Given the description of an element on the screen output the (x, y) to click on. 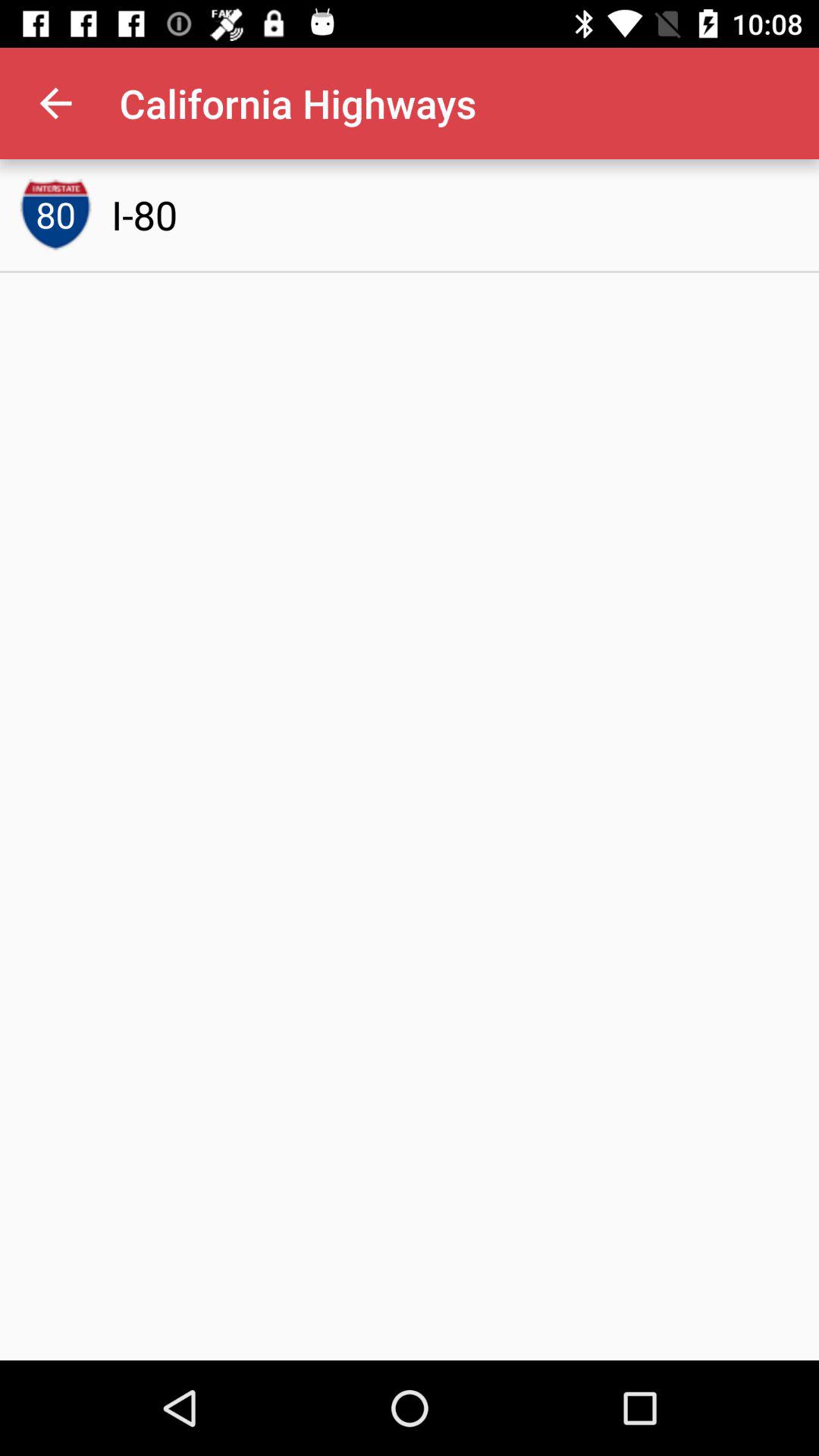
launch icon next to california highways item (55, 103)
